Given the description of an element on the screen output the (x, y) to click on. 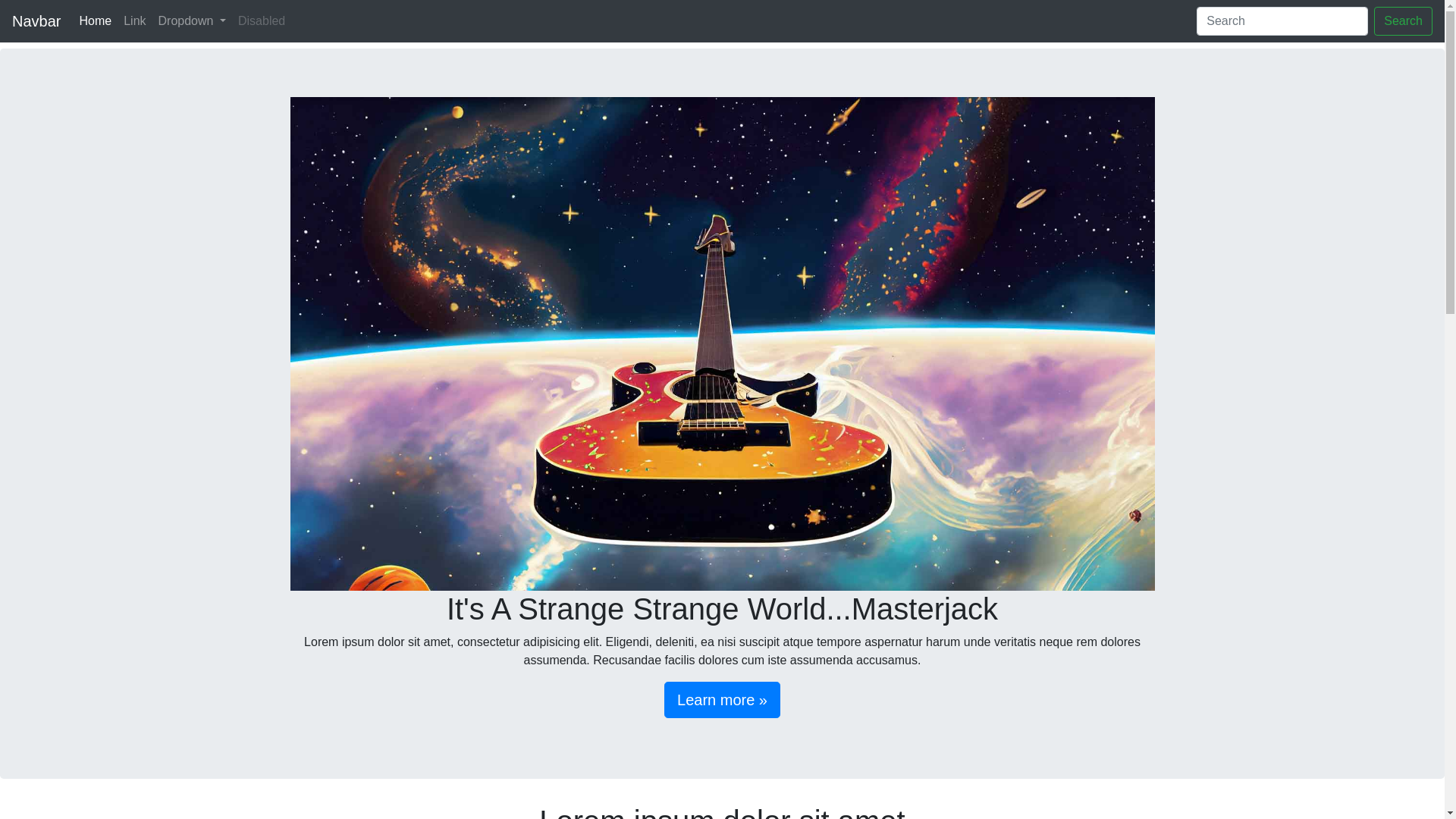
Dropdown Element type: text (192, 21)
Disabled Element type: text (261, 21)
Navbar Element type: text (36, 21)
Search Element type: text (1403, 20)
Home
(current) Element type: text (94, 21)
Link Element type: text (134, 21)
